Given the description of an element on the screen output the (x, y) to click on. 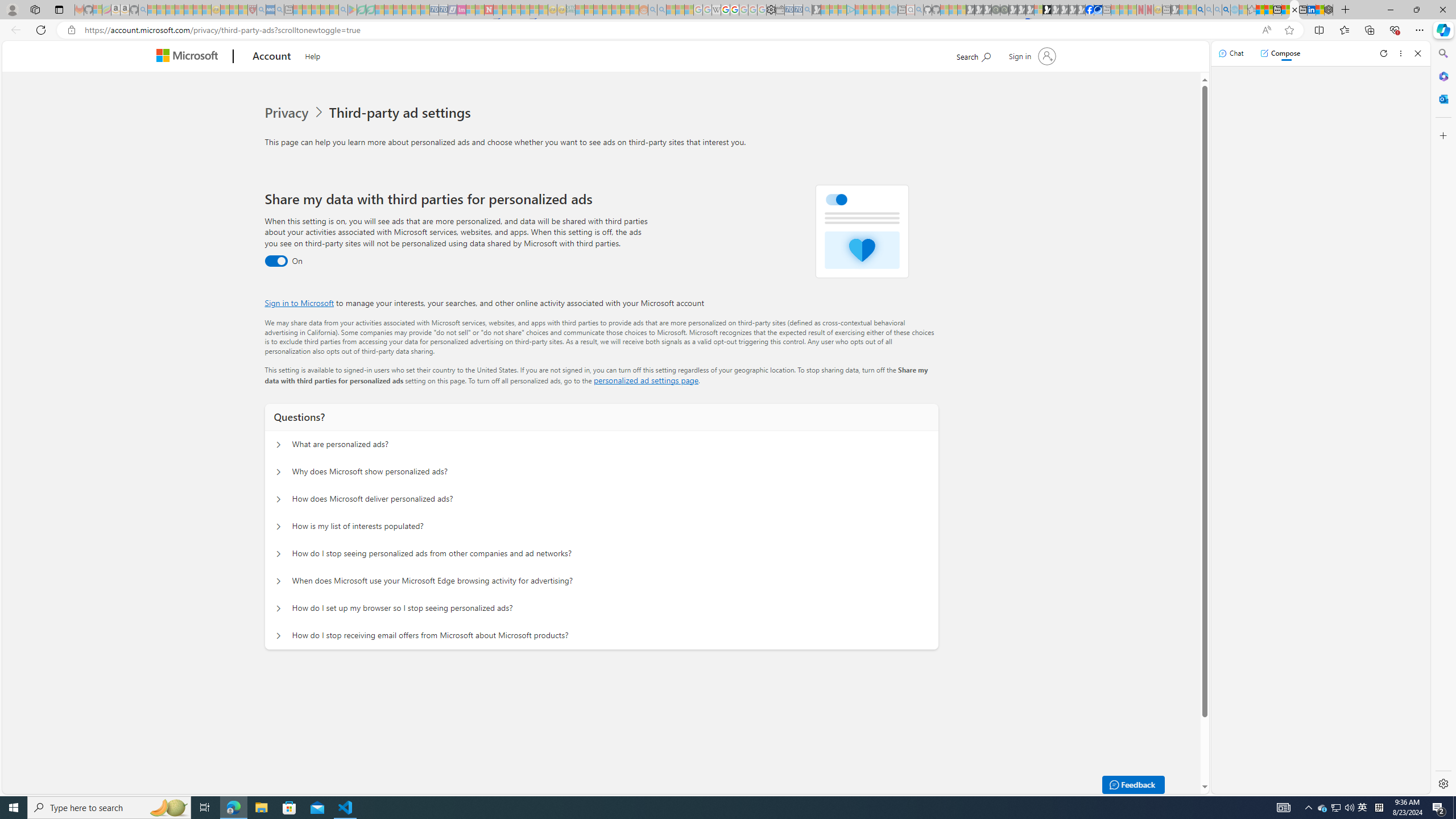
Questions? How does Microsoft deliver personalized ads? (278, 499)
